Given the description of an element on the screen output the (x, y) to click on. 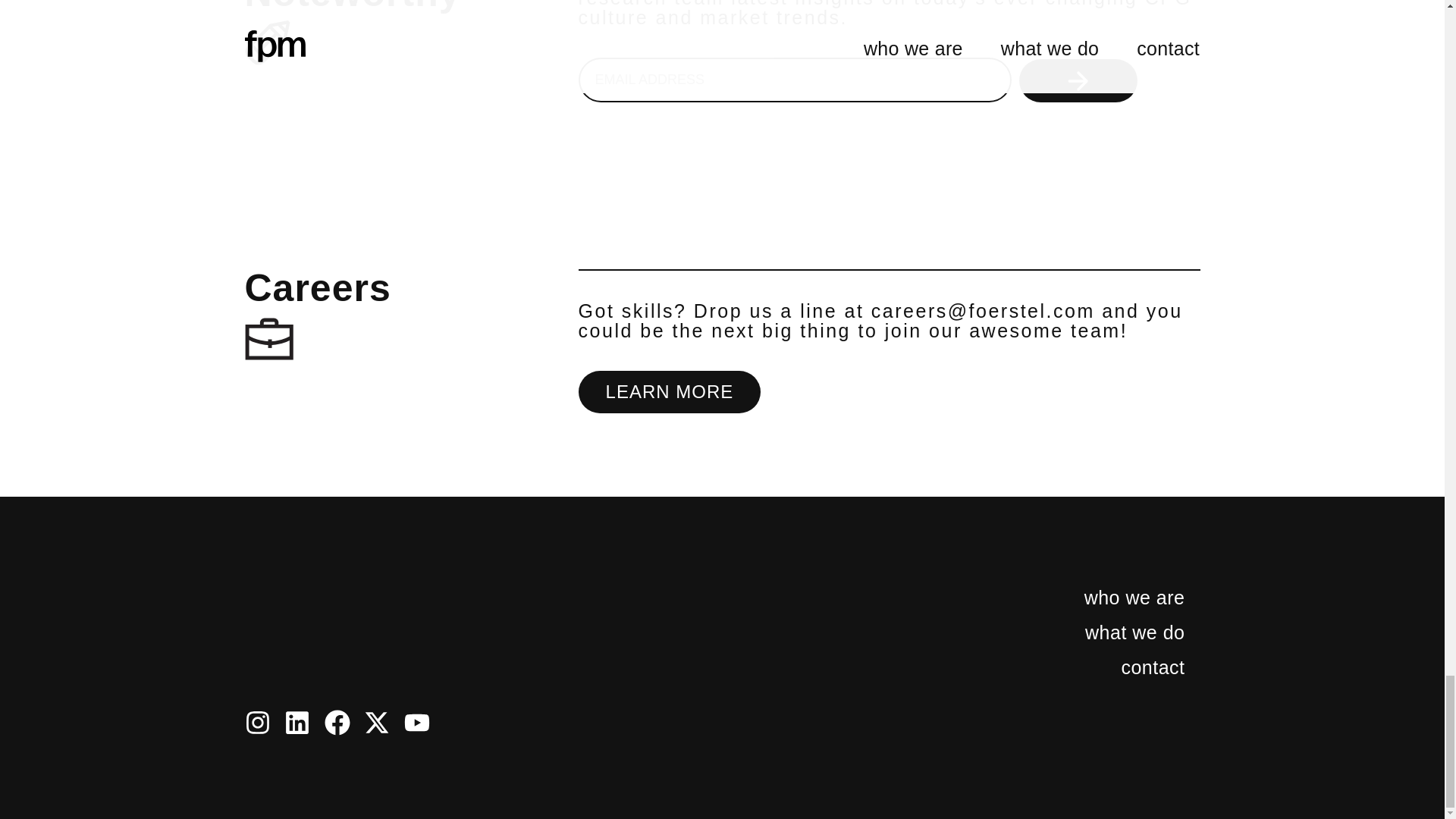
what we do (1110, 632)
who we are (1110, 597)
LEARN MORE (669, 392)
contact (1110, 667)
